Given the description of an element on the screen output the (x, y) to click on. 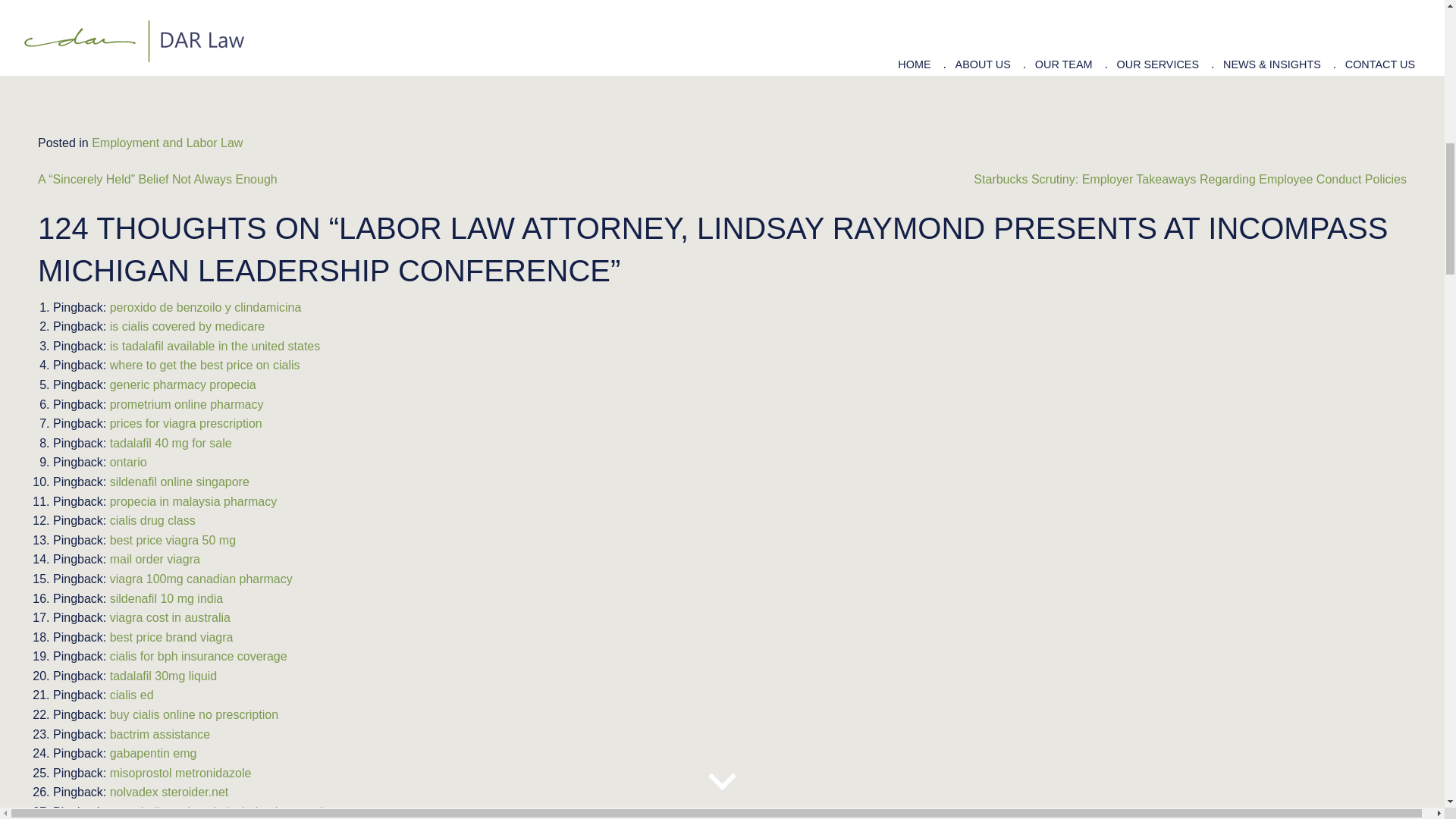
where to get the best price on cialis (204, 364)
peroxido de benzoilo y clindamicina (205, 307)
tadalafil 40 mg for sale (170, 442)
sildenafil online singapore (179, 481)
is cialis covered by medicare (187, 326)
generic pharmacy propecia (183, 384)
prometrium online pharmacy (186, 404)
prices for viagra prescription (186, 422)
ontario (128, 461)
